Given the description of an element on the screen output the (x, y) to click on. 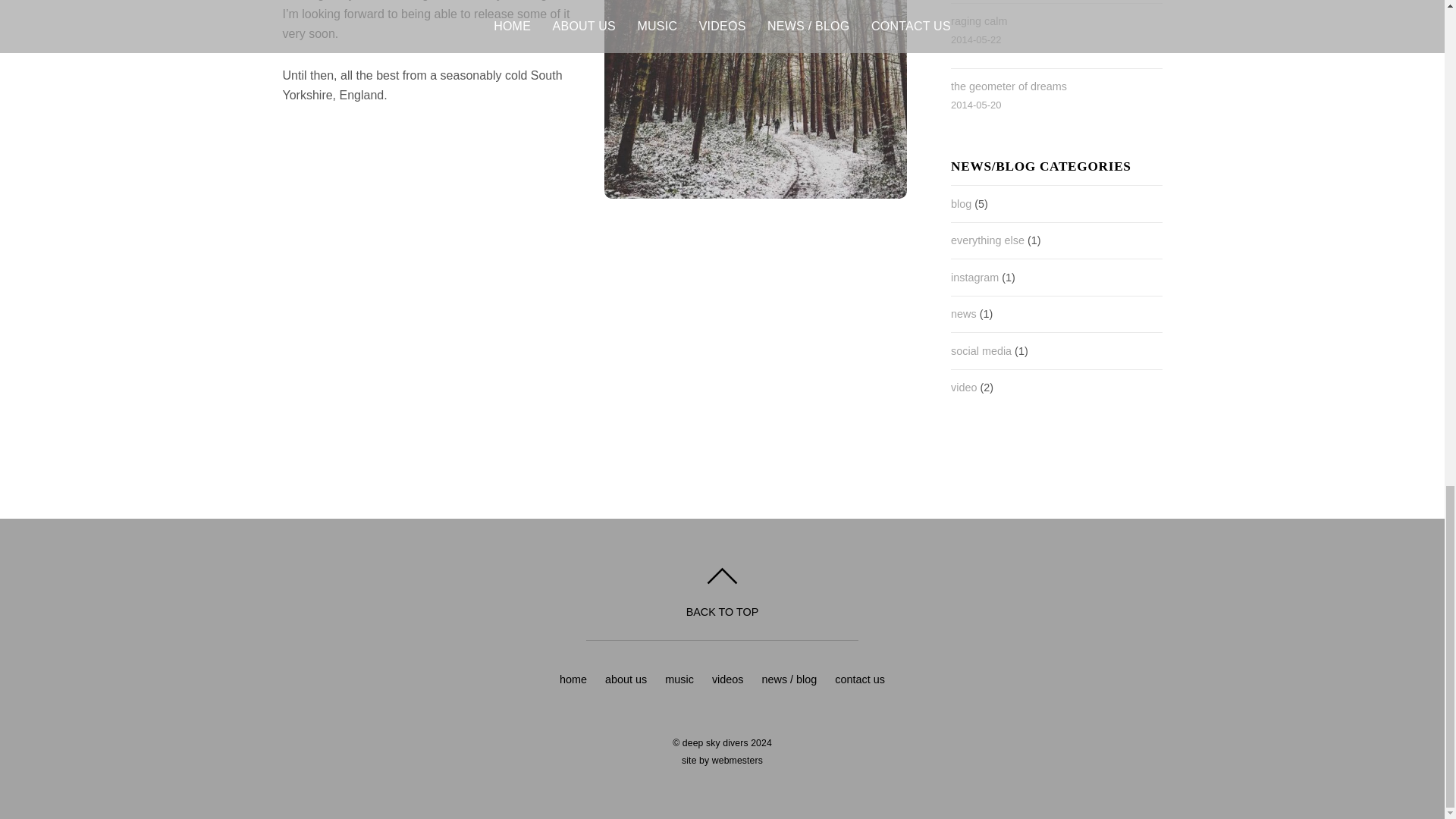
the geometer of dreams (1008, 86)
videos (727, 679)
social media (980, 350)
raging calm (978, 21)
news (963, 313)
deep sky divers (715, 742)
home (572, 679)
instagram (974, 277)
music (679, 679)
webmesters (736, 760)
contact us (859, 679)
video (963, 387)
everything else (987, 240)
blog (960, 203)
BACK TO TOP (721, 593)
